Given the description of an element on the screen output the (x, y) to click on. 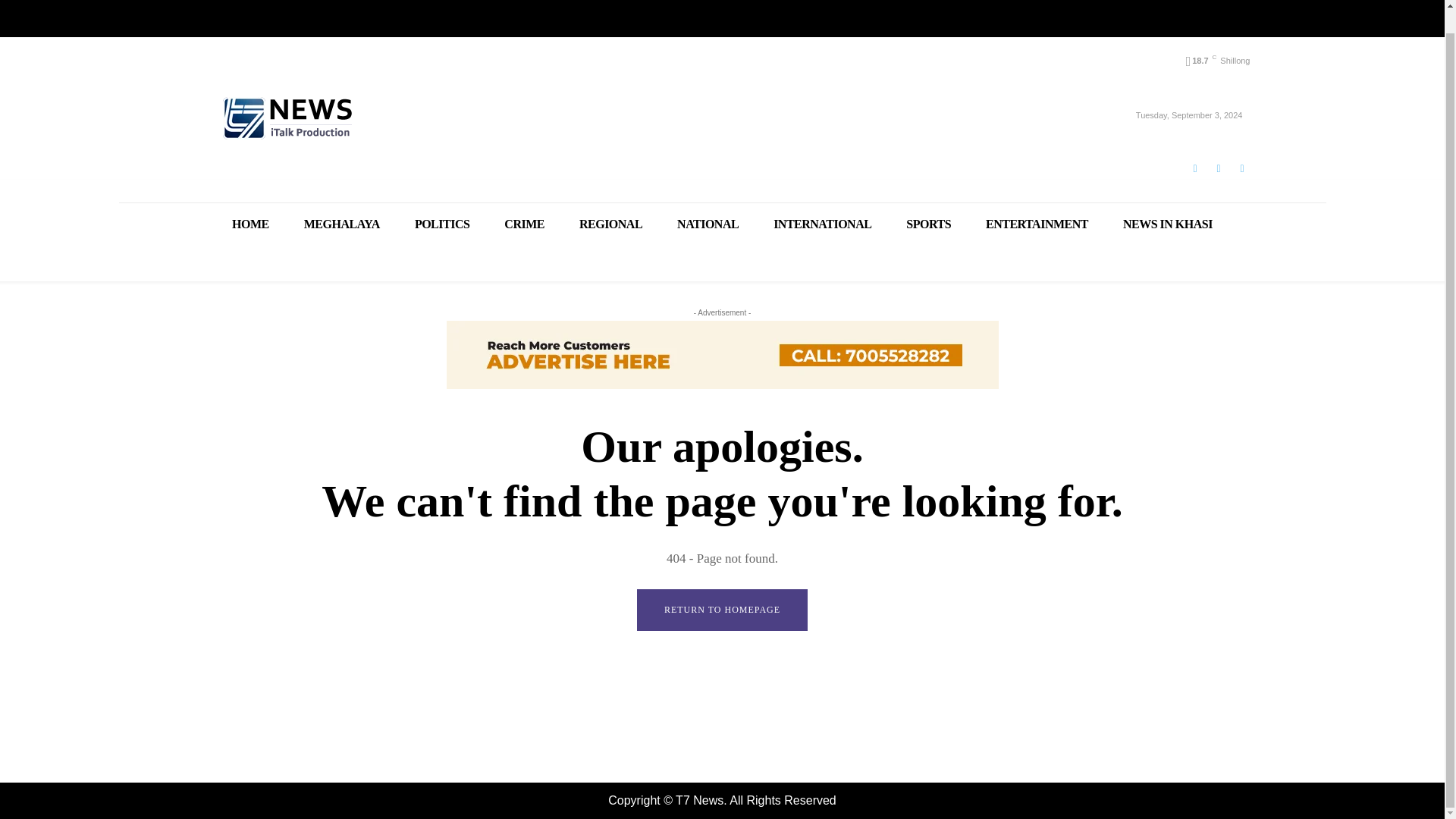
ENTERTAINMENT (1036, 223)
HOME (250, 223)
POLITICS (441, 223)
Instagram (1217, 167)
REGIONAL (610, 223)
Twitter (1241, 167)
Facebook (1194, 167)
NEWS IN KHASI (1167, 223)
MEGHALAYA (341, 223)
SPORTS (928, 223)
